Given the description of an element on the screen output the (x, y) to click on. 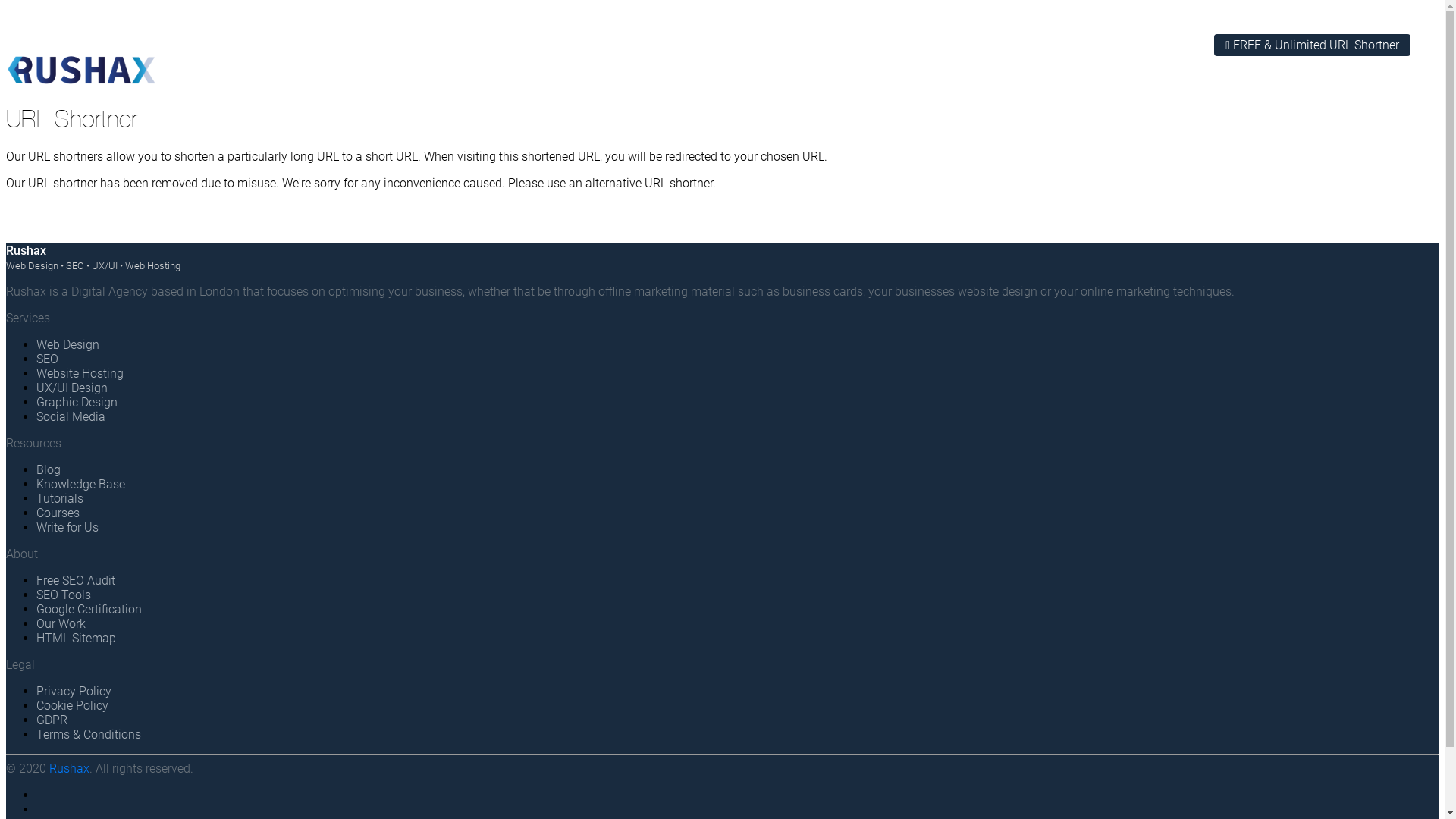
SEO Element type: text (47, 358)
Social Media Element type: text (70, 416)
HTML Sitemap Element type: text (76, 637)
GDPR Element type: text (51, 719)
Graphic Design Element type: text (76, 402)
Web Design Element type: text (67, 344)
Tutorials Element type: text (59, 498)
Website Hosting Element type: text (79, 373)
Privacy Policy Element type: text (73, 691)
Knowledge Base Element type: text (80, 483)
Rushax Element type: text (26, 250)
Blog Element type: text (48, 469)
Google Certification Element type: text (88, 609)
Our Work Element type: text (60, 623)
Write for Us Element type: text (67, 527)
Cookie Policy Element type: text (72, 705)
Free SEO Audit Element type: text (75, 580)
SEO Tools Element type: text (63, 594)
Rushax Element type: text (69, 768)
Courses Element type: text (57, 512)
UX/UI Design Element type: text (71, 387)
Terms & Conditions Element type: text (88, 734)
